Given the description of an element on the screen output the (x, y) to click on. 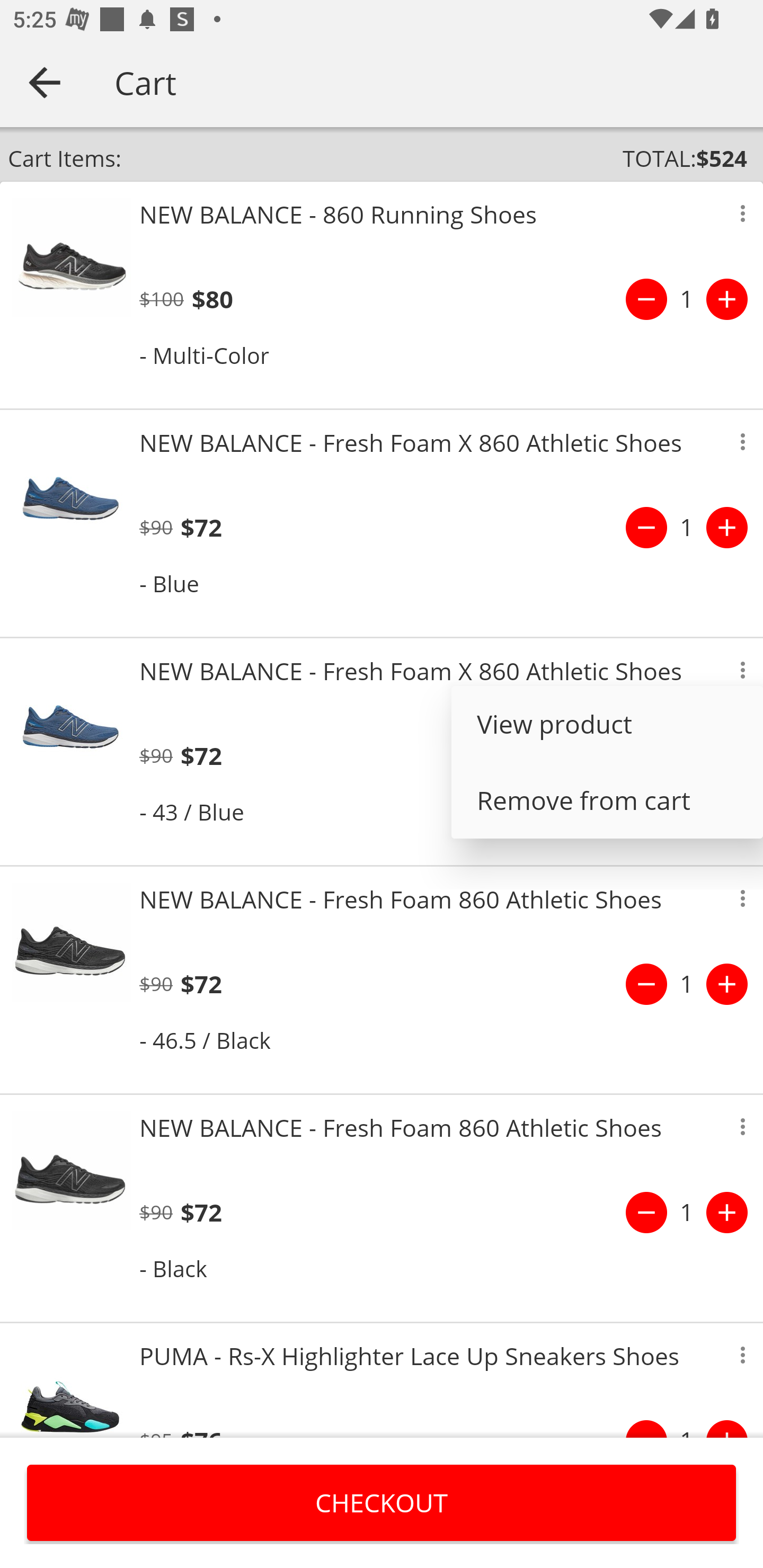
View product (607, 724)
Remove from cart (607, 800)
